Given the description of an element on the screen output the (x, y) to click on. 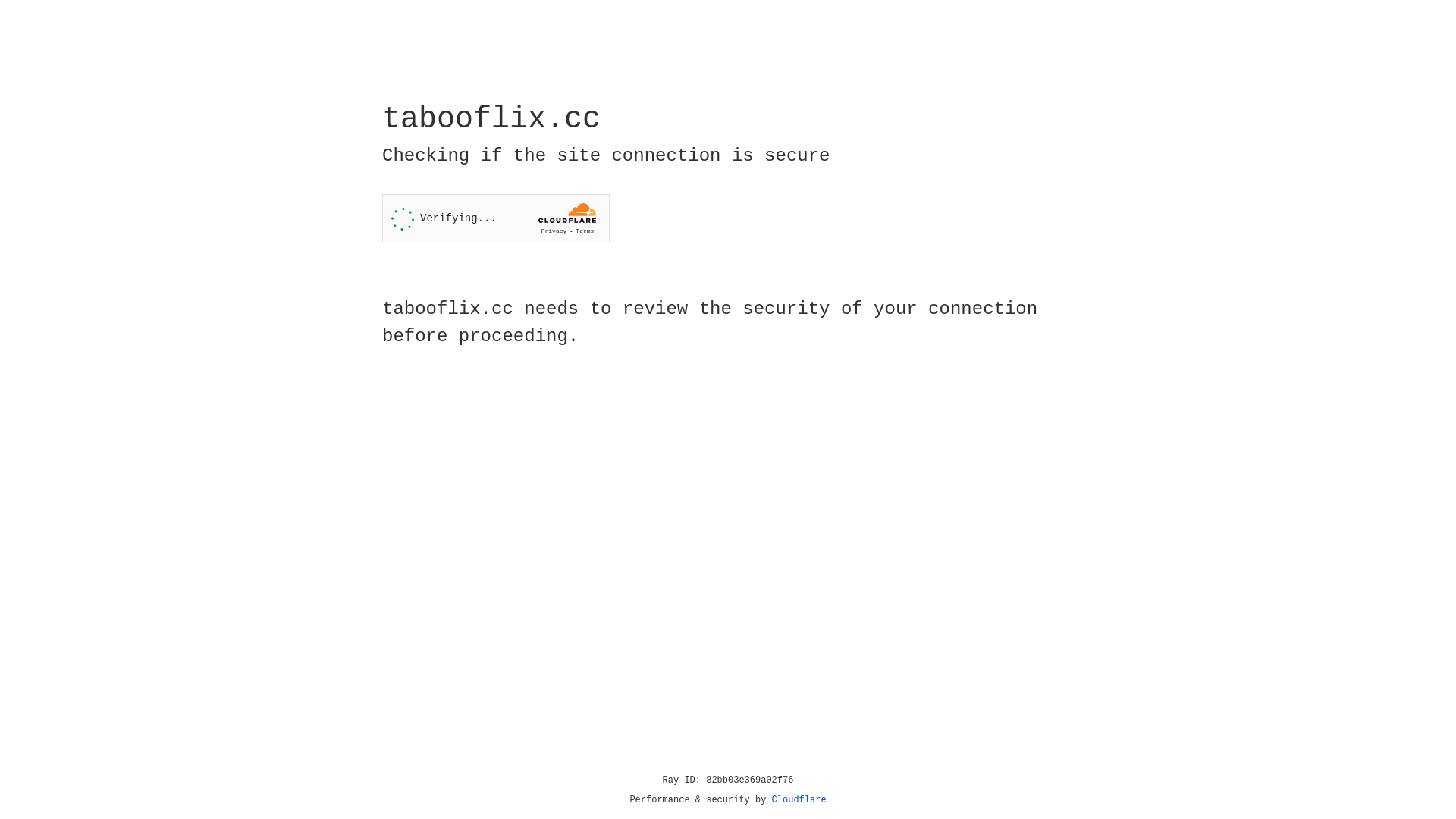
Widget containing a Cloudflare security challenge Element type: hover (495, 218)
Cloudflare Element type: text (798, 799)
